Given the description of an element on the screen output the (x, y) to click on. 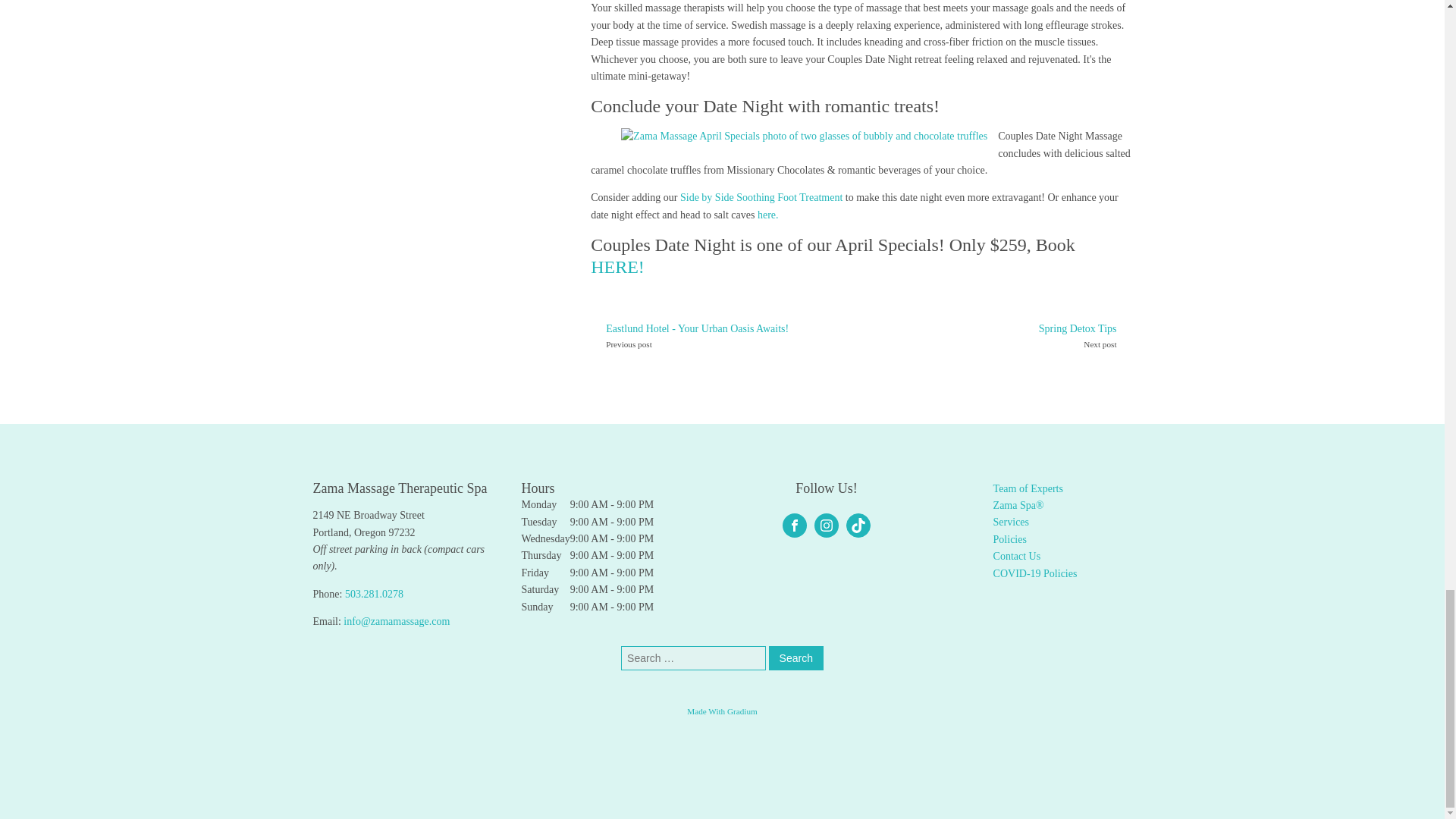
Search (796, 657)
Search (796, 657)
